Given the description of an element on the screen output the (x, y) to click on. 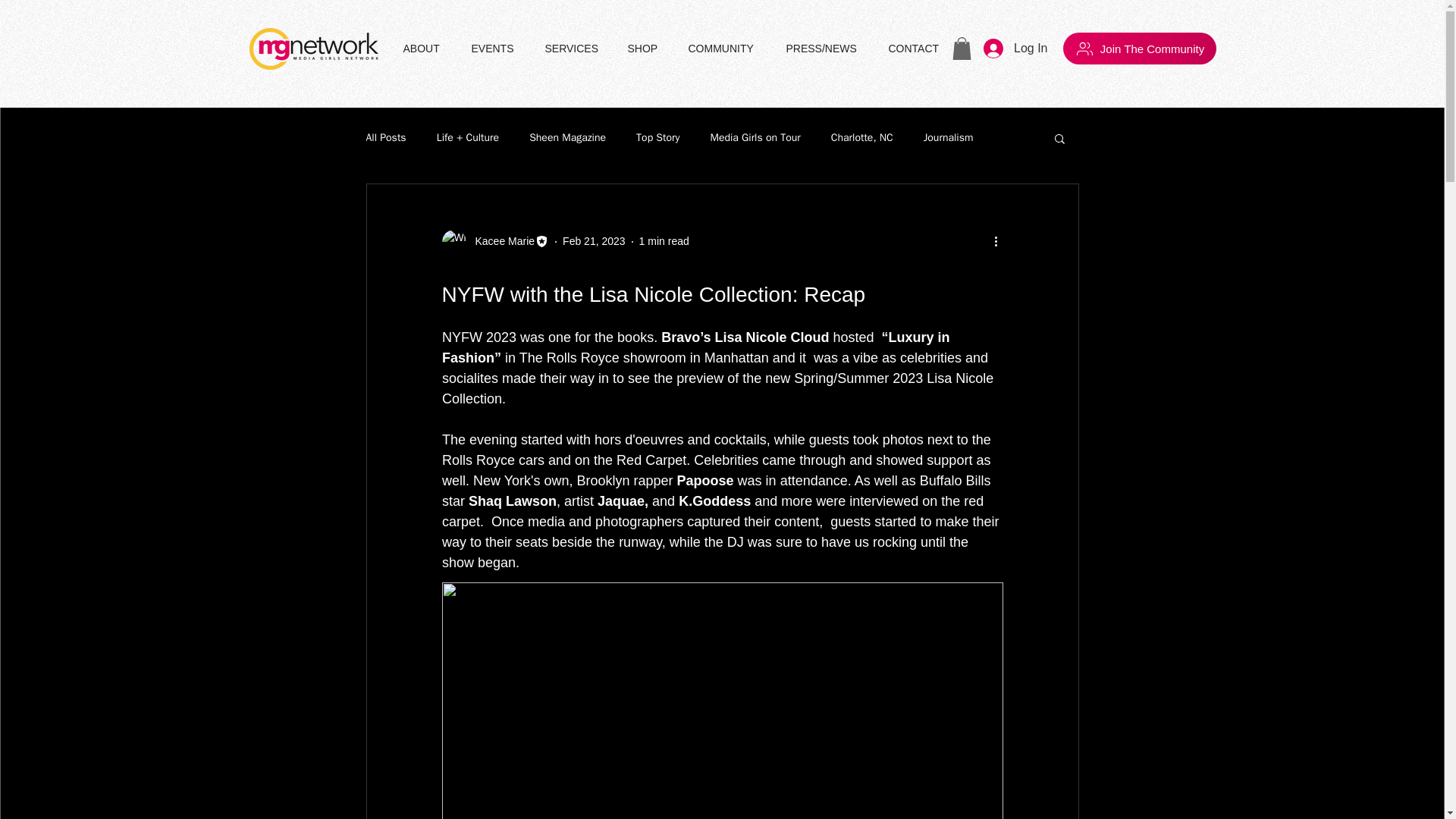
Join The Community (1138, 48)
ABOUT (425, 48)
Journalism (948, 137)
CONTACT (917, 48)
Feb 21, 2023 (594, 241)
Kacee Marie (499, 241)
1 min read (663, 241)
Top Story (657, 137)
Log In (1015, 48)
SHOP (646, 48)
SERVICES (574, 48)
All Posts (385, 137)
Charlotte, NC (862, 137)
Media Girls on Tour (754, 137)
Sheen Magazine (567, 137)
